Given the description of an element on the screen output the (x, y) to click on. 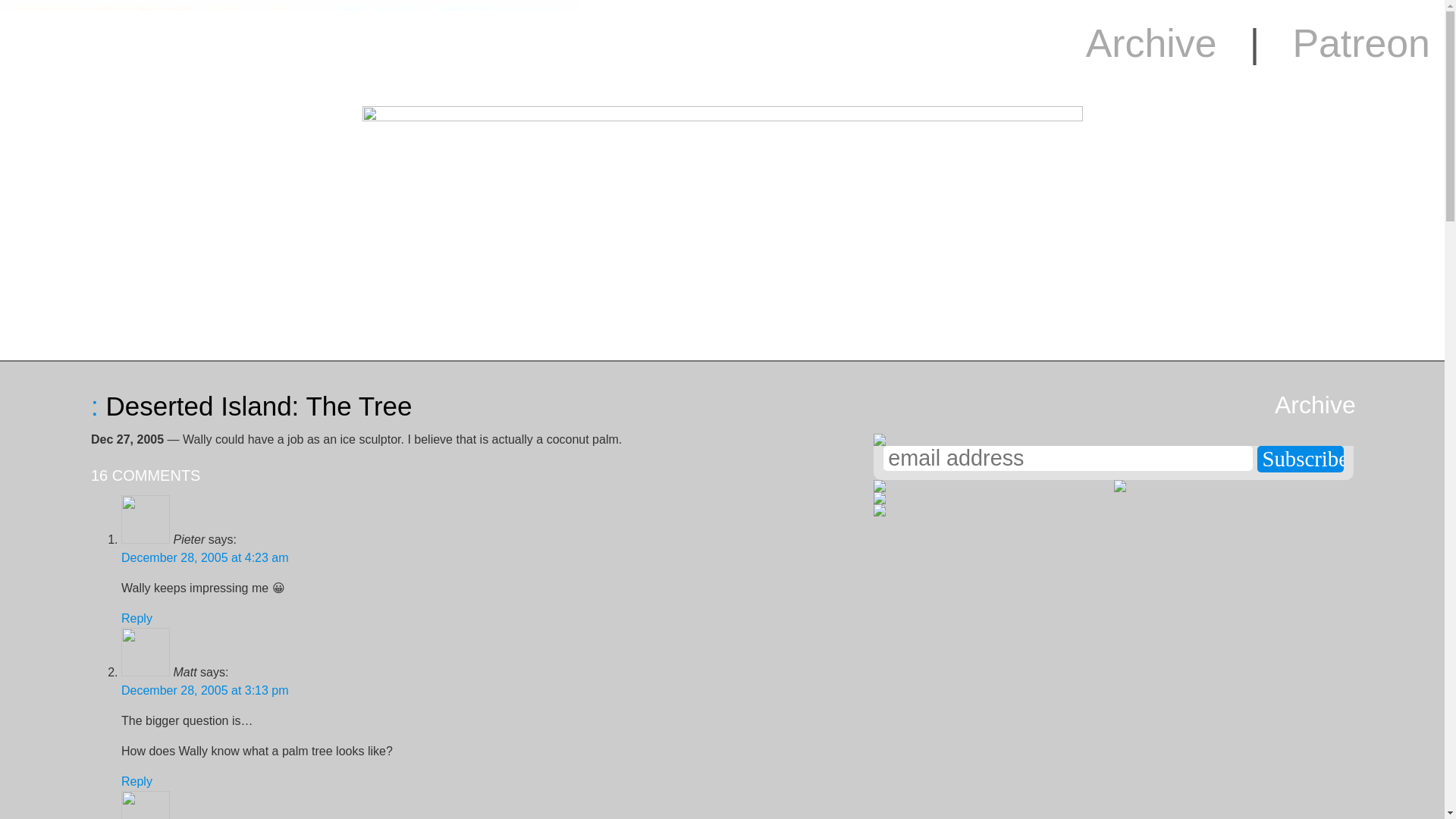
Previous (44, 407)
Subscribe (1300, 458)
Search Archive (1314, 405)
Reply (136, 617)
December 28, 2005 at 4:23 am (204, 557)
Next (1398, 407)
December 28, 2005 at 3:13 pm (1314, 405)
Reply (204, 689)
: Deserted Island: The Tree (136, 780)
